Given the description of an element on the screen output the (x, y) to click on. 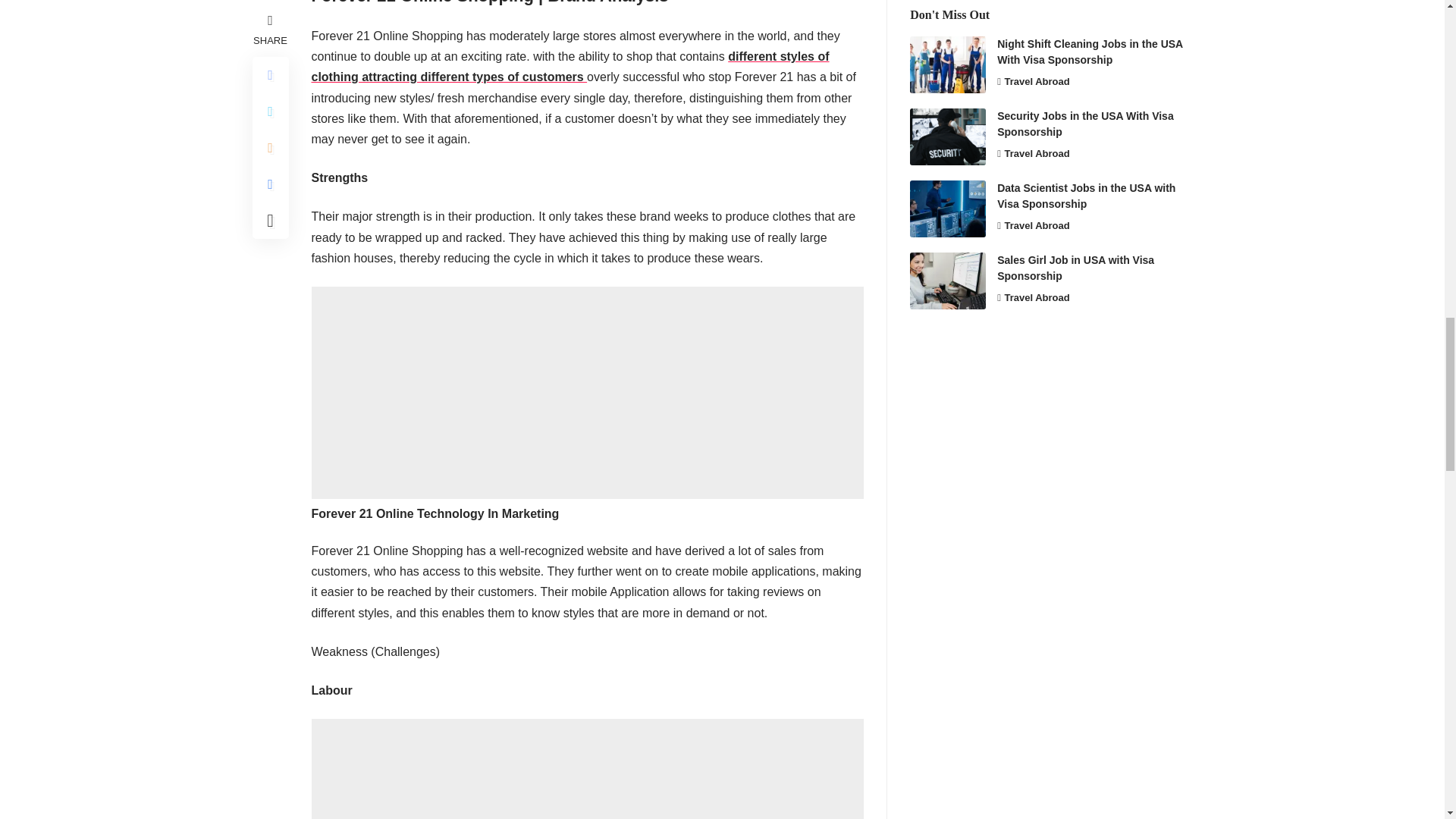
Advertisement (587, 769)
Advertisement (587, 392)
